Given the description of an element on the screen output the (x, y) to click on. 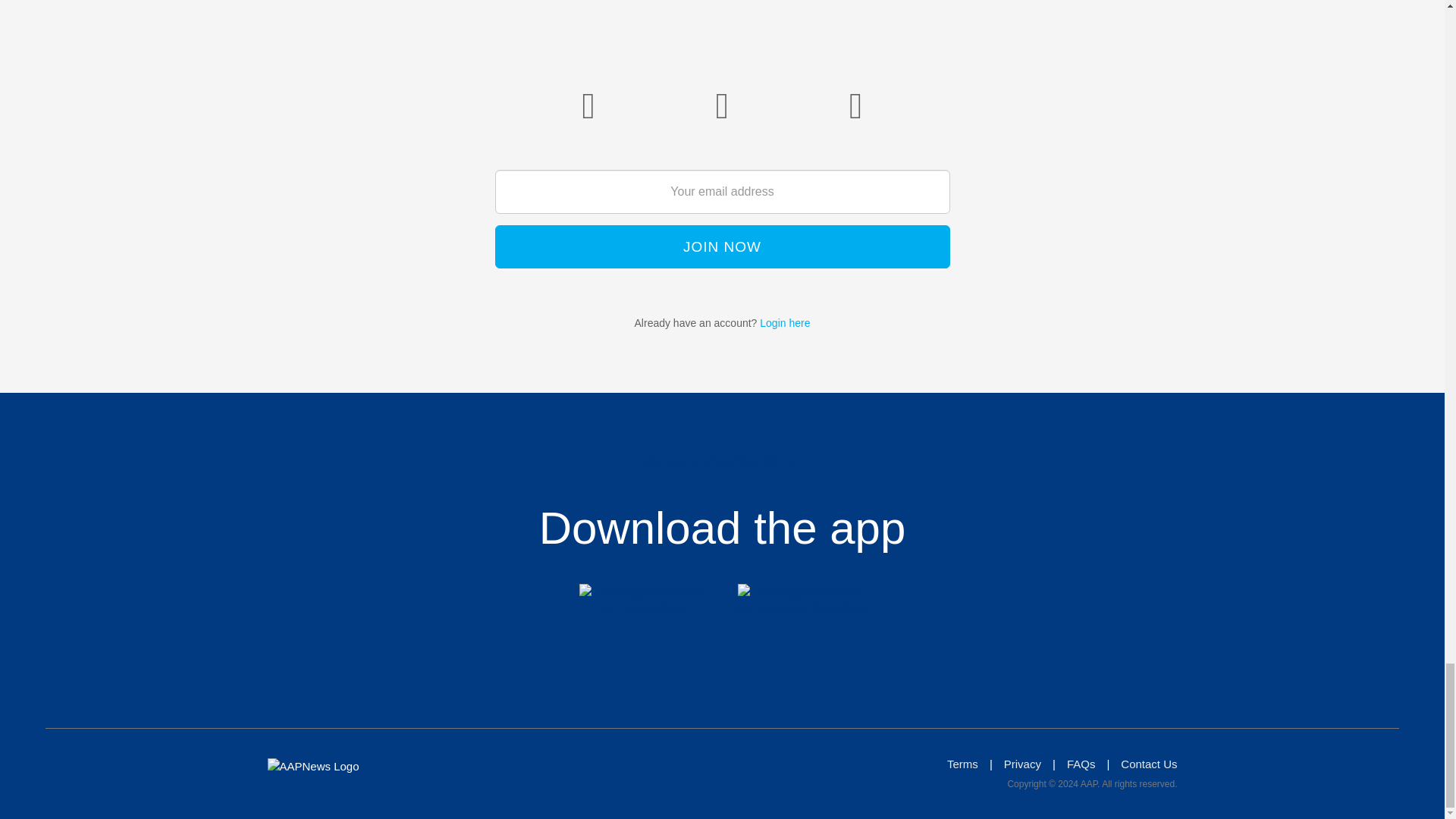
Login here (784, 322)
Terms (962, 763)
FAQs (1081, 763)
Contact Us (1148, 763)
JOIN NOW (722, 246)
Privacy (1022, 763)
